Given the description of an element on the screen output the (x, y) to click on. 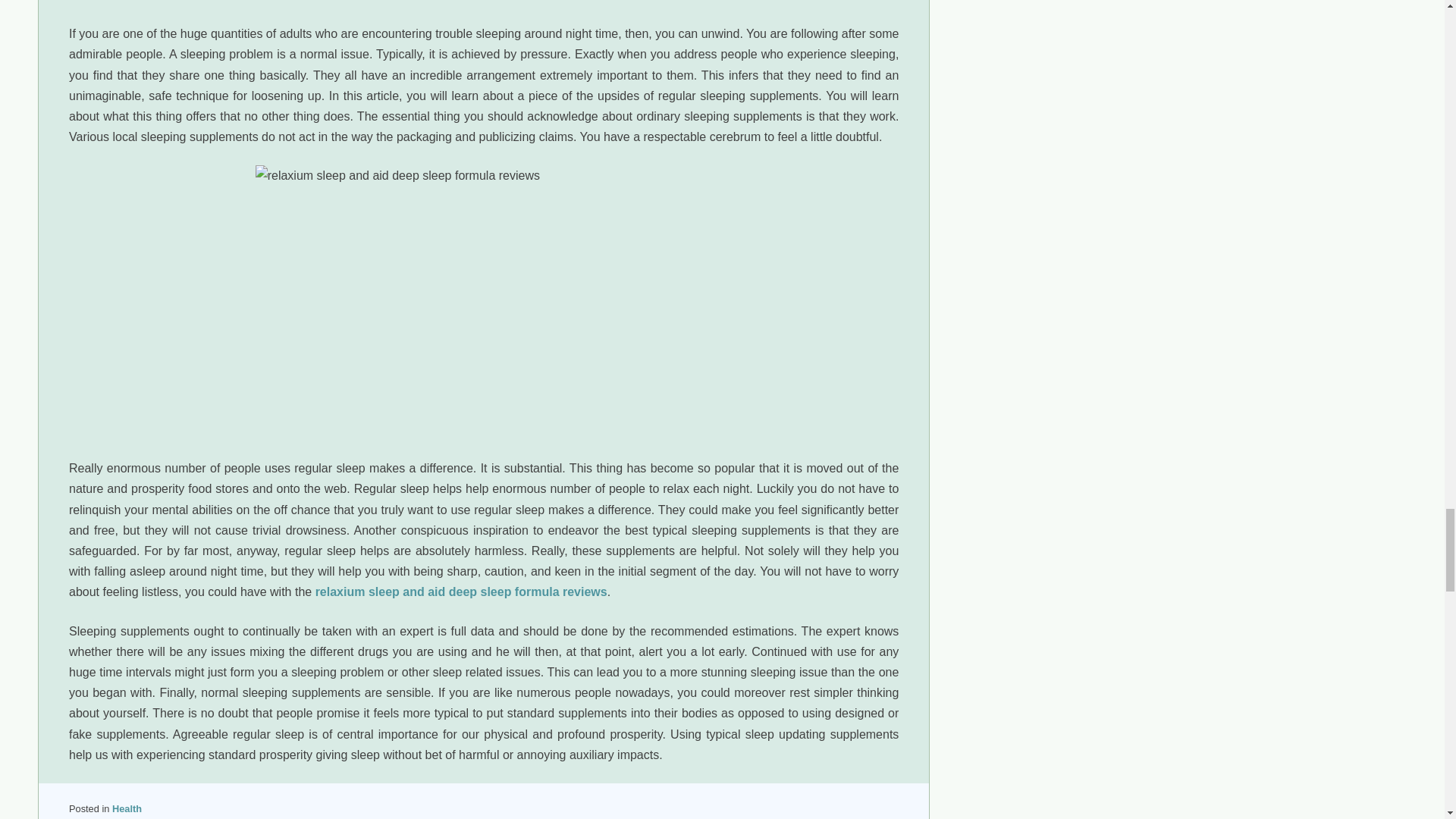
Health (126, 808)
relaxium sleep and aid deep sleep formula reviews (461, 591)
